Given the description of an element on the screen output the (x, y) to click on. 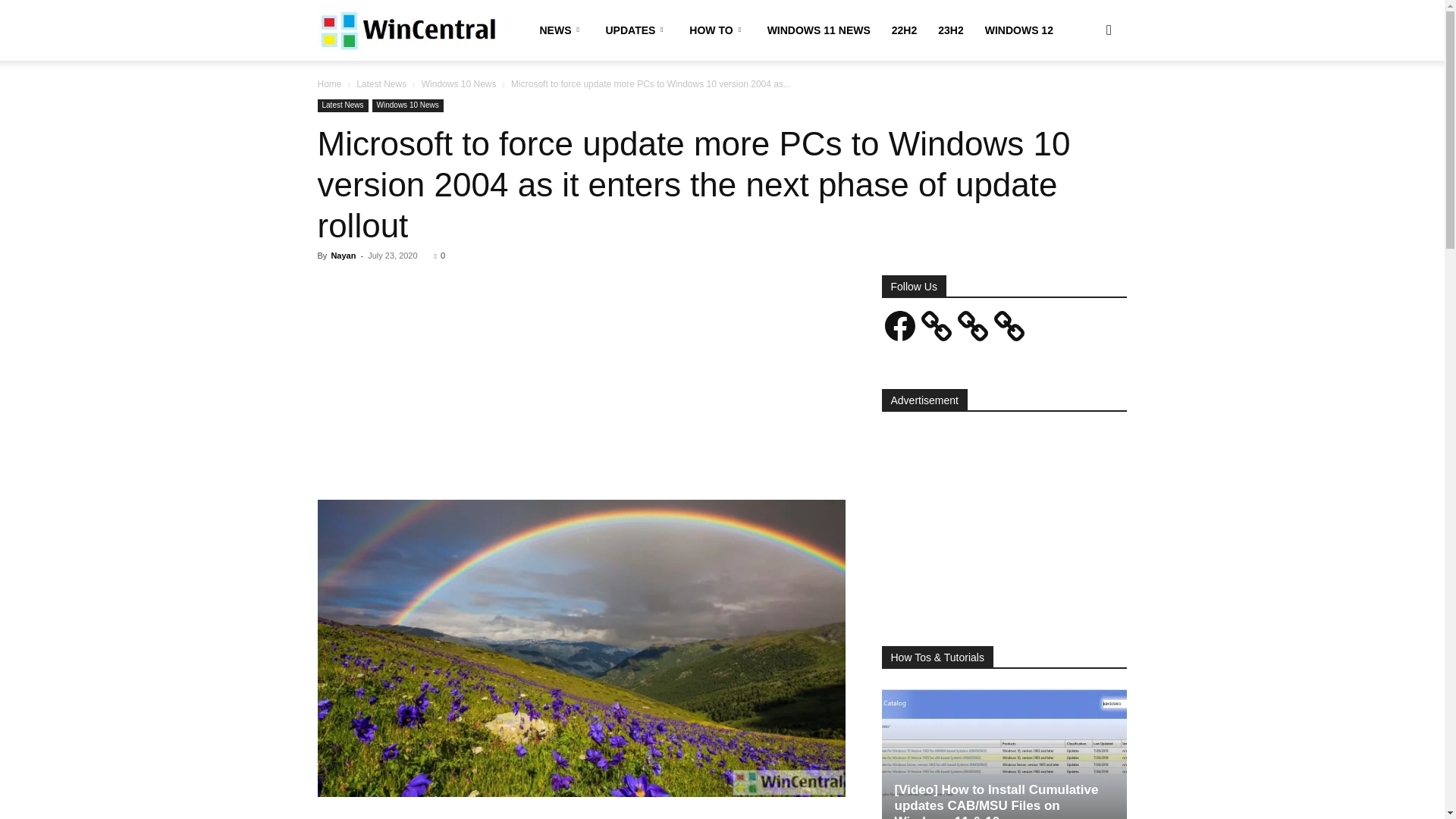
NEWS (562, 30)
Latest News (381, 83)
View all posts in Latest News (381, 83)
UPDATES (636, 30)
View all posts in Windows 10 News (459, 83)
WinCentral (406, 30)
0 (439, 255)
Windows 10 News (408, 105)
HOW TO (716, 30)
Latest News (342, 105)
WinCentral logo (406, 31)
Nayan (342, 255)
WINDOWS 11 NEWS (818, 30)
Advertisement (580, 387)
